Given the description of an element on the screen output the (x, y) to click on. 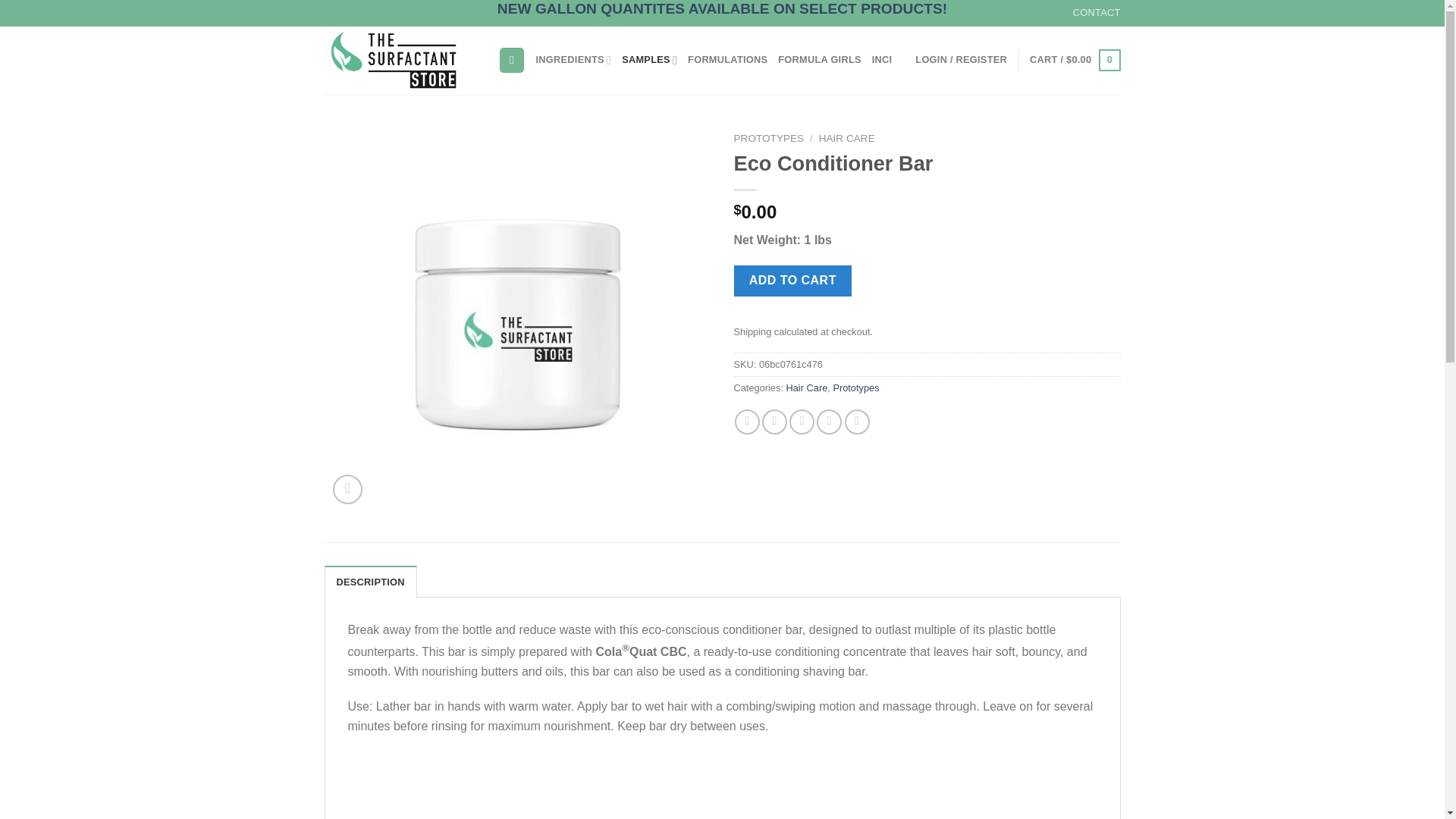
Share on Twitter (774, 421)
Audioboom player (721, 785)
FORMULATIONS (727, 60)
PROTOTYPES (769, 138)
INGREDIENTS (573, 60)
CONTACT (1097, 12)
FORMULA GIRLS (818, 60)
ADD TO CART (792, 280)
Cart (1074, 60)
